Given the description of an element on the screen output the (x, y) to click on. 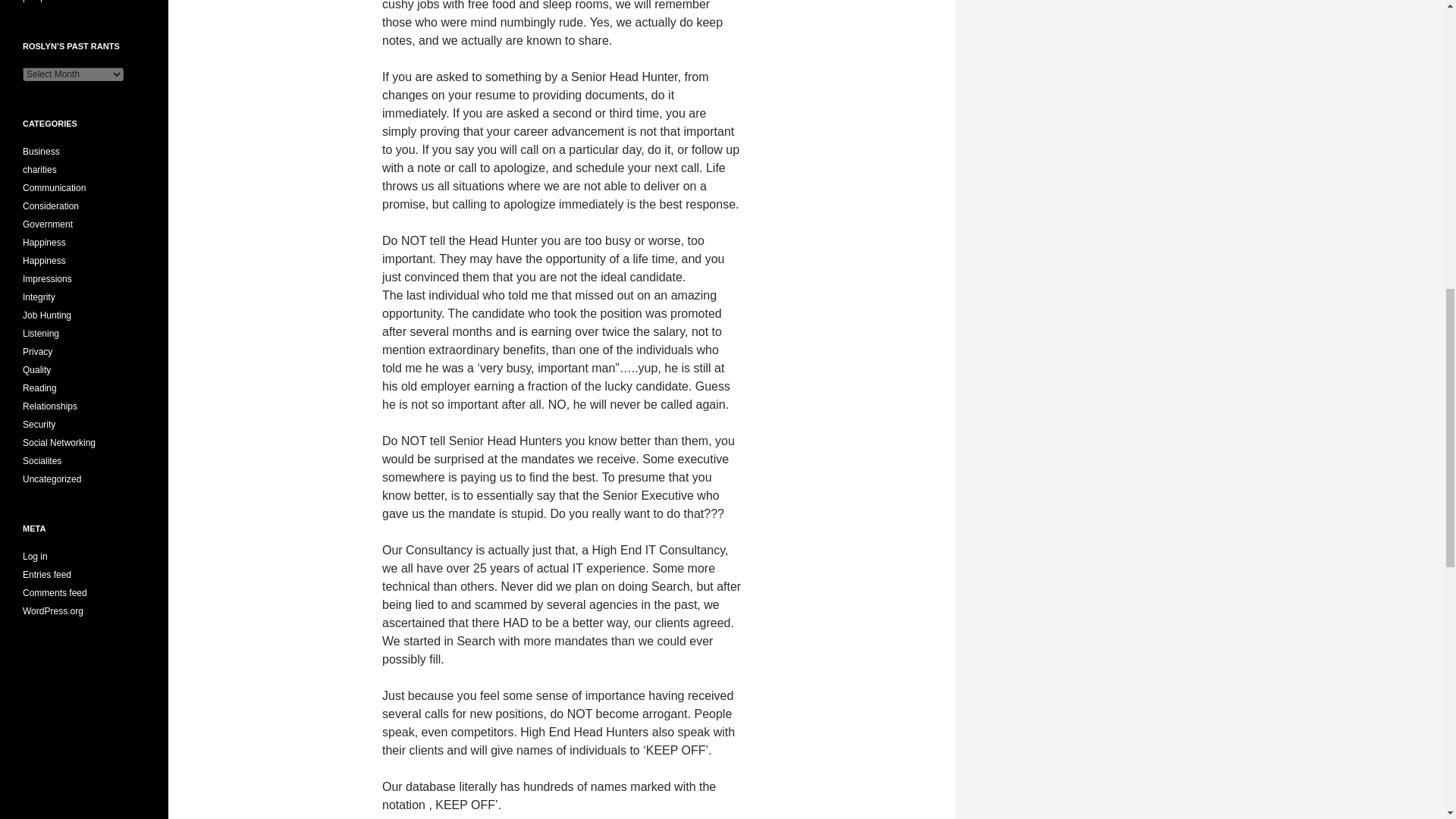
Business (41, 151)
Happiness (44, 242)
Happiness (44, 260)
Government (47, 224)
Consideration (50, 205)
charities (39, 169)
Communication (54, 187)
